Given the description of an element on the screen output the (x, y) to click on. 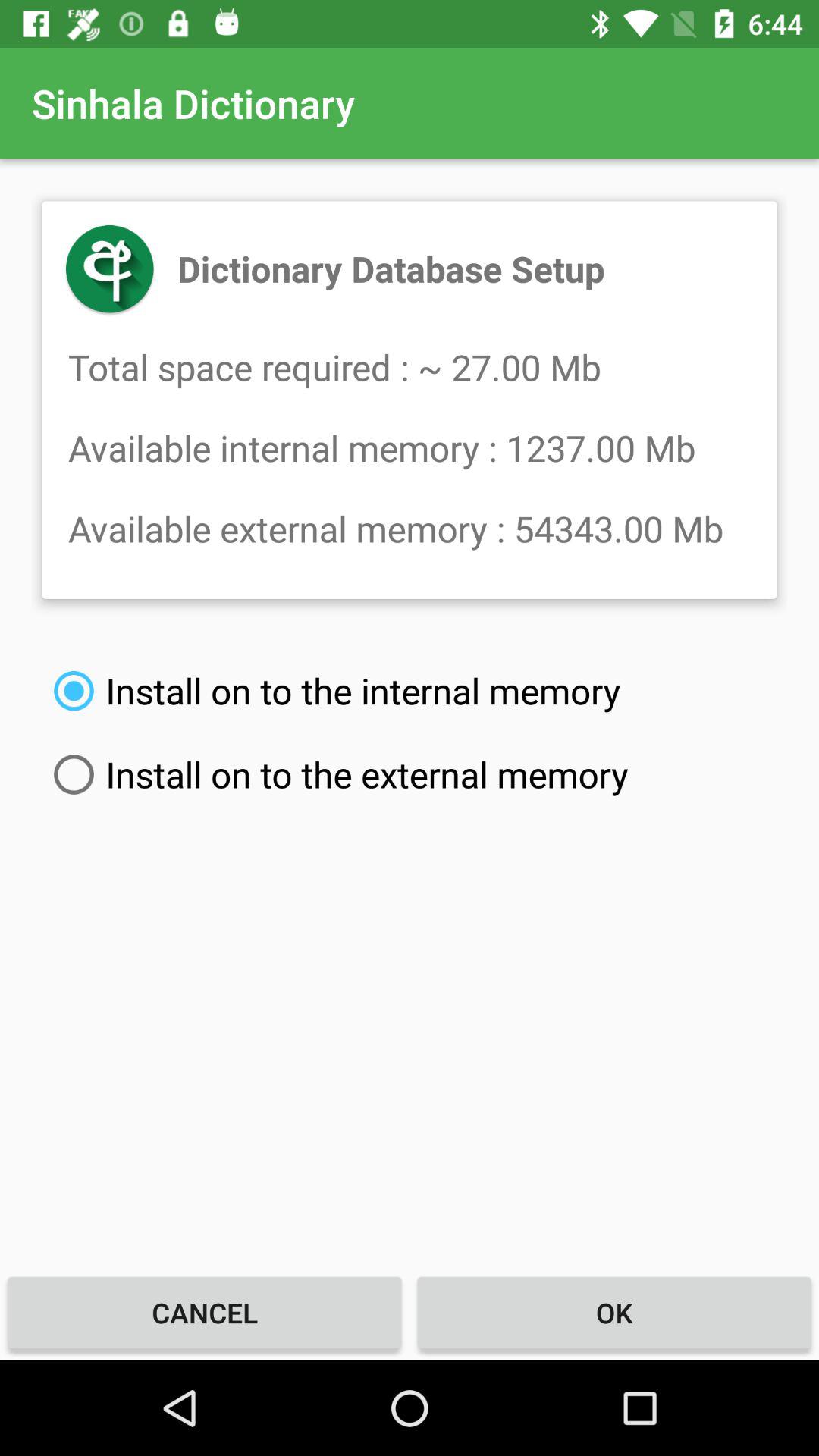
open the ok item (614, 1312)
